Given the description of an element on the screen output the (x, y) to click on. 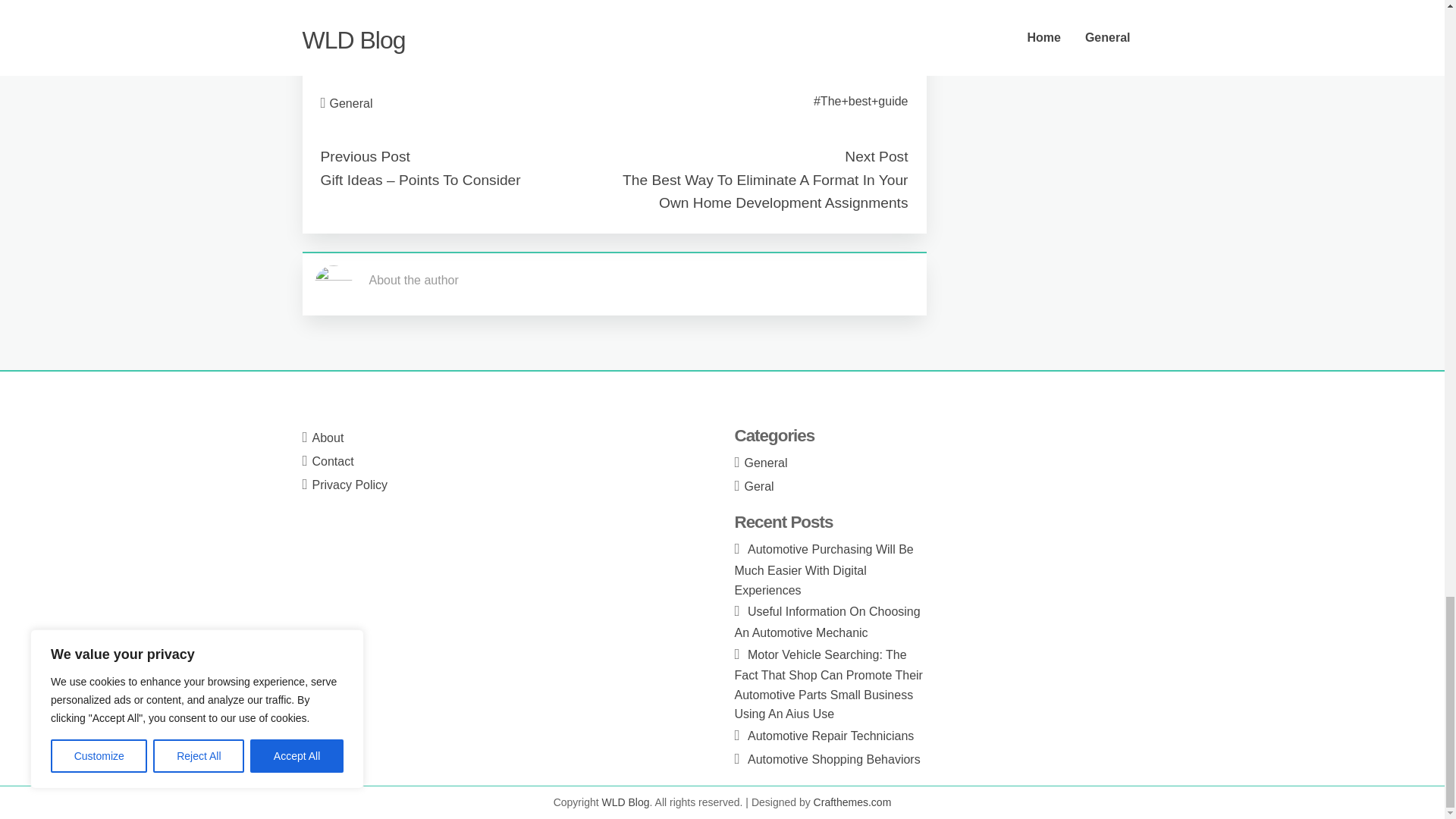
Contact (333, 461)
find more information (376, 11)
General (351, 103)
Privacy Policy (350, 484)
Previous Post (364, 156)
Next Post (875, 156)
have a peek at these guys (390, 51)
About (328, 437)
